Given the description of an element on the screen output the (x, y) to click on. 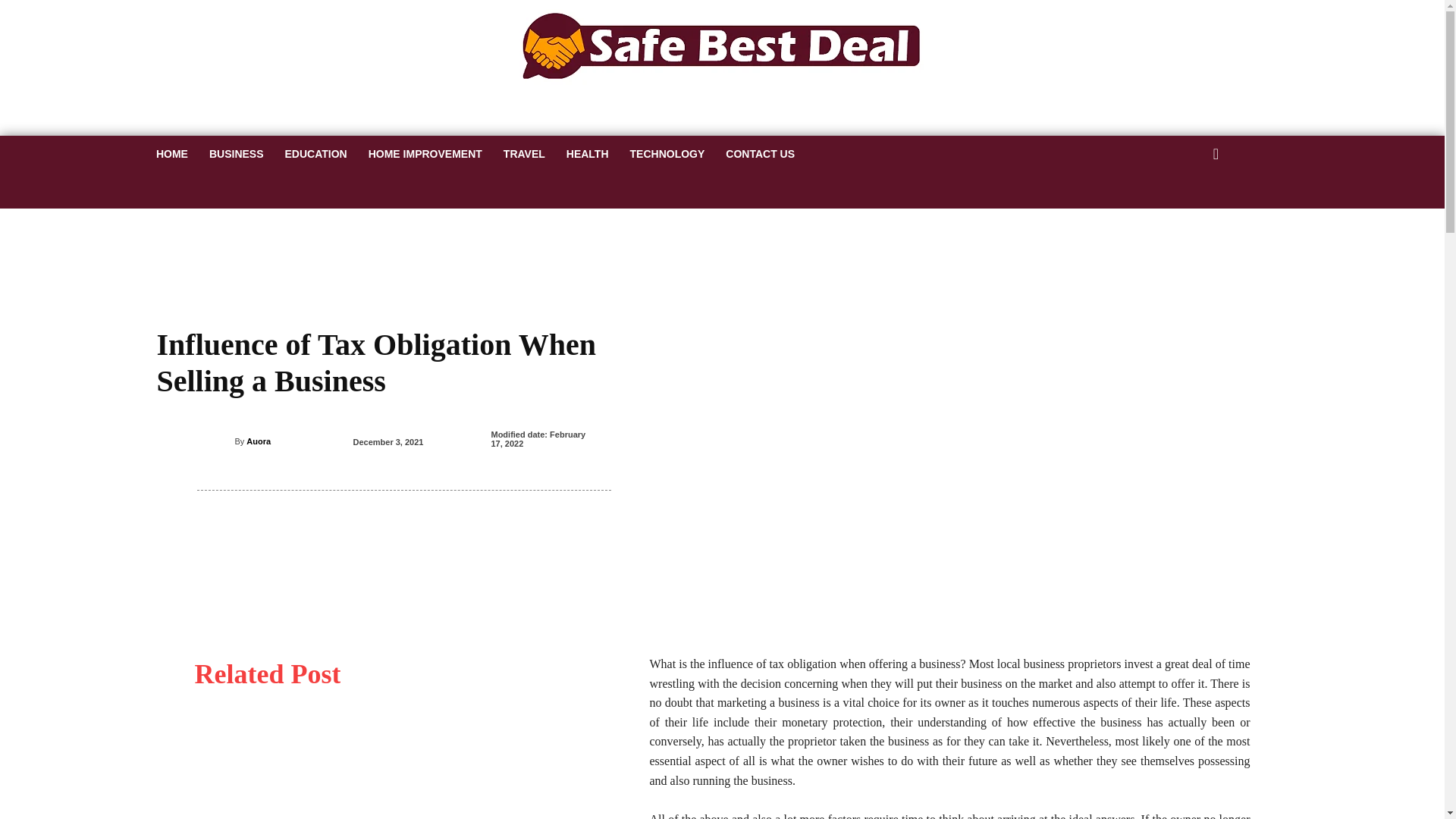
HOME IMPROVEMENT (425, 153)
Recycling Initiatives in Plastic Manufacturing (402, 773)
Auora (258, 440)
TRAVEL (524, 153)
HOME (171, 153)
Auora (224, 441)
TECHNOLOGY (668, 153)
BUSINESS (236, 153)
CONTACT US (759, 153)
HEALTH (588, 153)
EDUCATION (316, 153)
